Given the description of an element on the screen output the (x, y) to click on. 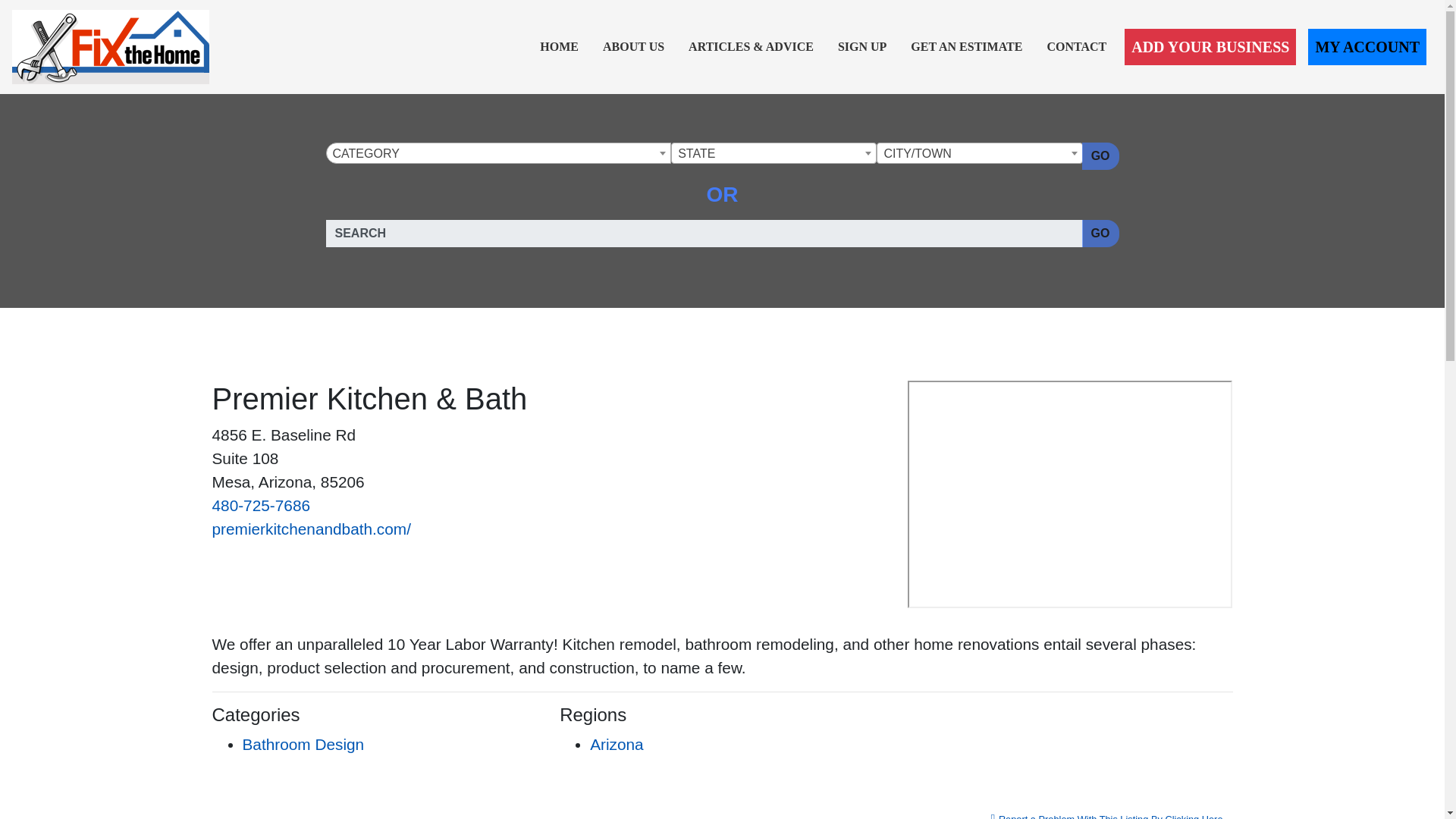
State (773, 153)
SIGN UP (861, 46)
GO (1100, 155)
CONTACT (1076, 46)
480-725-7686 (261, 505)
ABOUT US (632, 46)
ADD YOUR BUSINESS (1209, 46)
GO (1100, 233)
Arizona (616, 743)
HOME (559, 46)
Category (497, 153)
GET AN ESTIMATE (965, 46)
MY ACCOUNT (1366, 46)
Report a Problem With This Listing By Clicking Here (1107, 811)
Bathroom Design (304, 743)
